Given the description of an element on the screen output the (x, y) to click on. 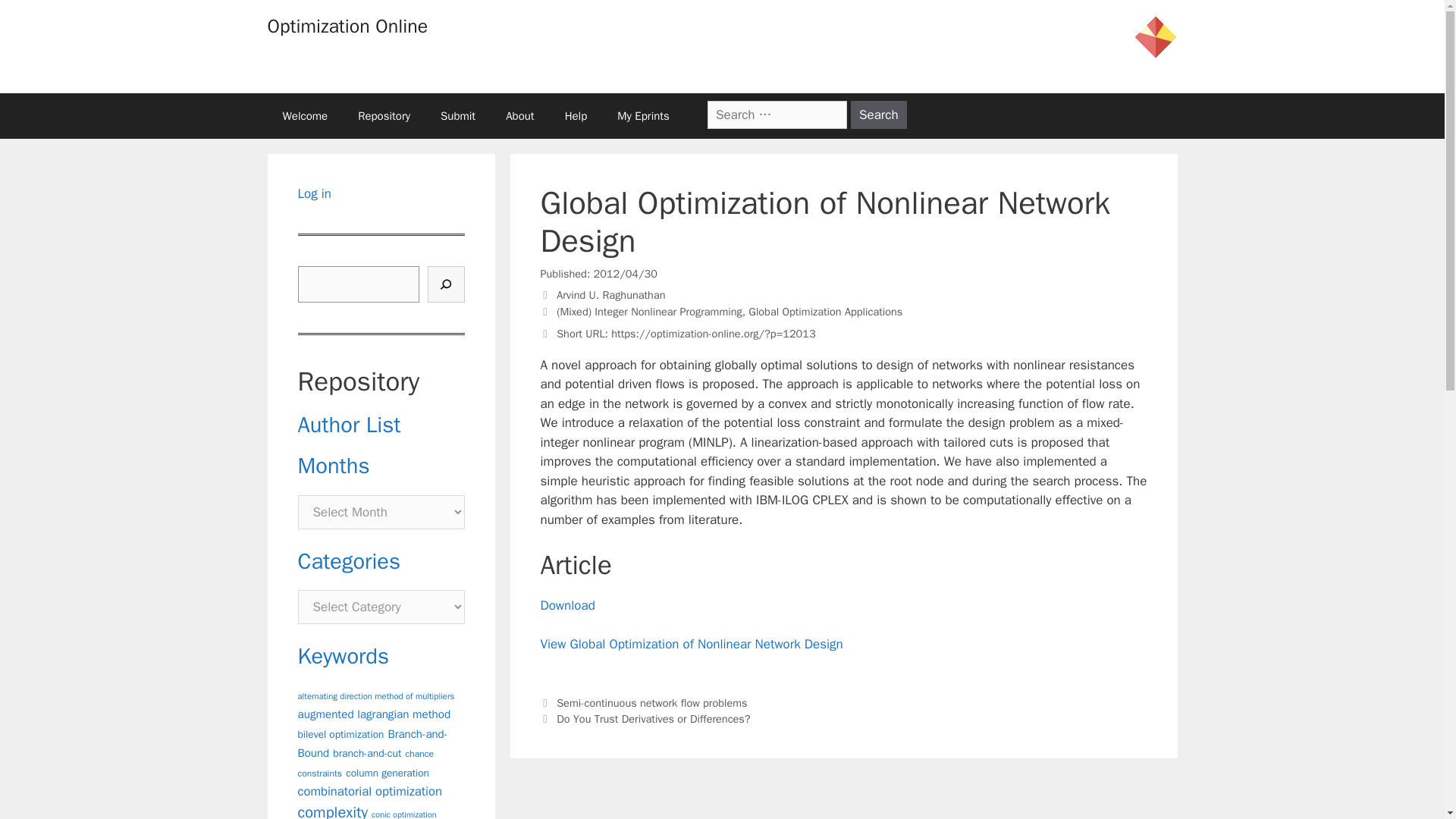
combinatorial optimization (369, 790)
Arvind U. Raghunathan (610, 295)
Welcome (304, 115)
Help (576, 115)
bilevel optimization (340, 734)
Do You Trust Derivatives or Differences? (652, 718)
branch-and-cut (367, 753)
About (519, 115)
Search (878, 113)
alternating direction method of multipliers (375, 696)
